Given the description of an element on the screen output the (x, y) to click on. 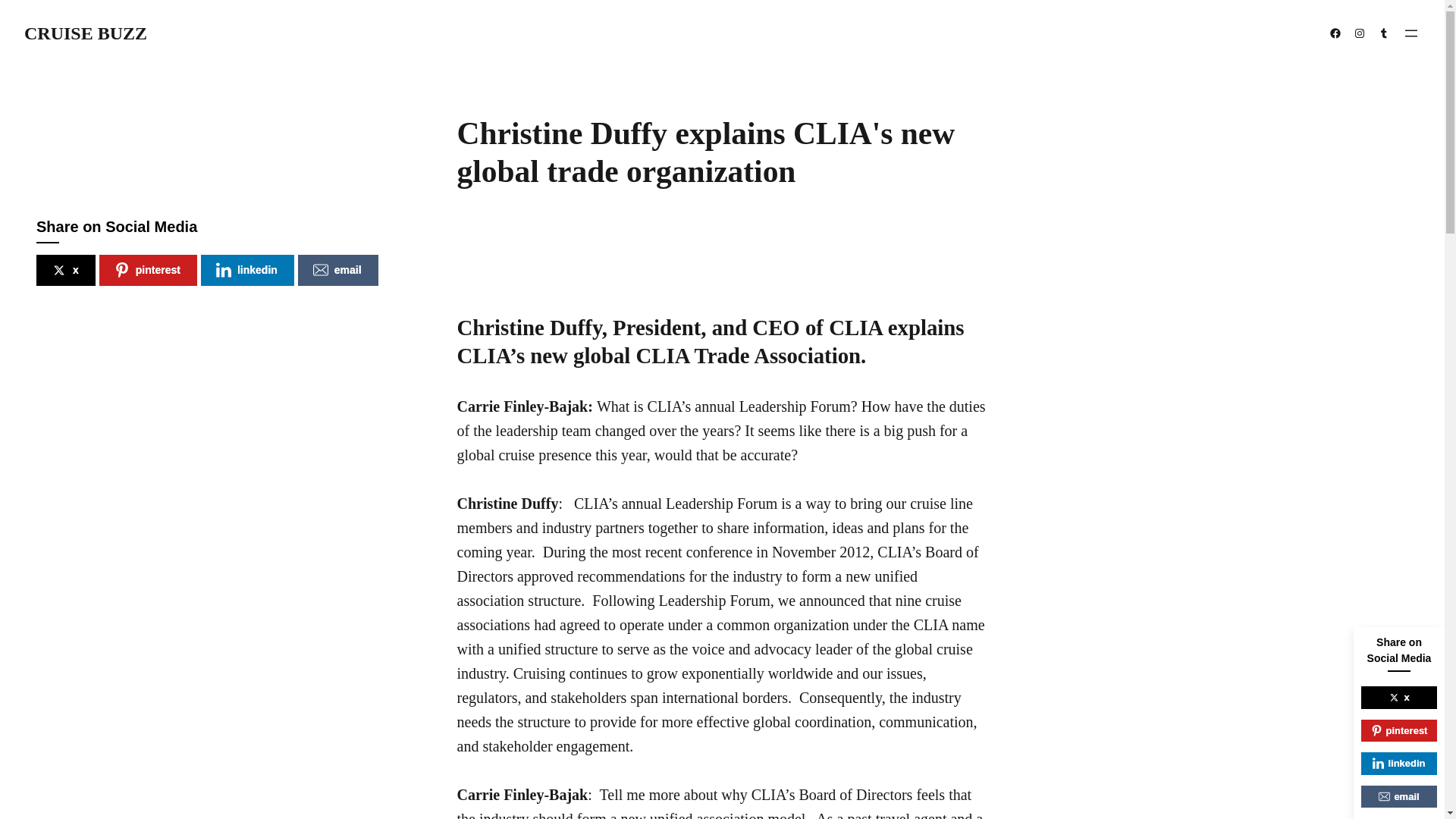
linkedin (247, 269)
x (66, 269)
CRUISE BUZZ (85, 33)
email (1399, 796)
Facebook (1334, 33)
email (338, 269)
pinterest (147, 269)
x (1399, 697)
Tumblr (1383, 33)
linkedin (1399, 763)
